Given the description of an element on the screen output the (x, y) to click on. 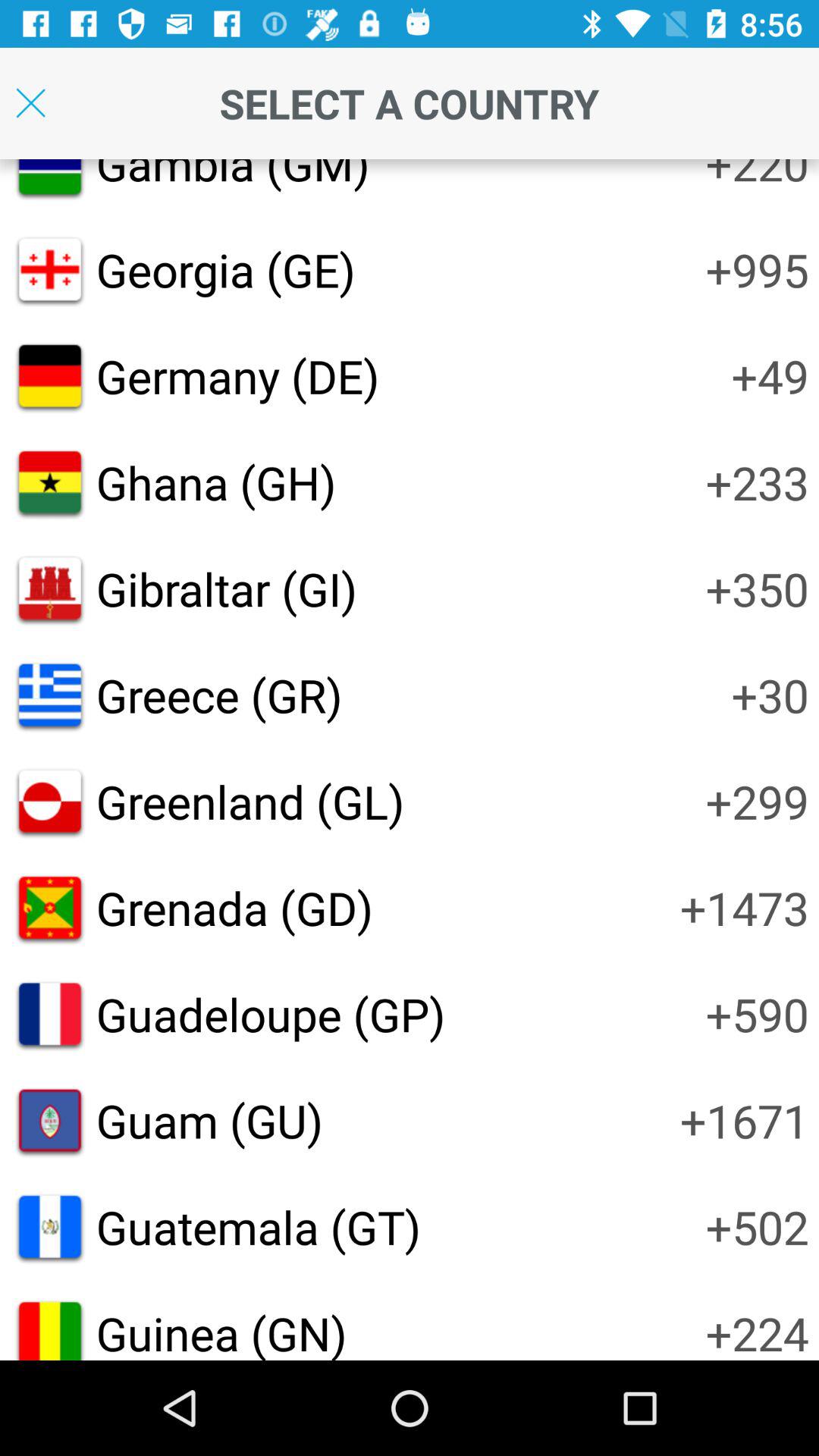
launch the +224 icon (756, 1331)
